Given the description of an element on the screen output the (x, y) to click on. 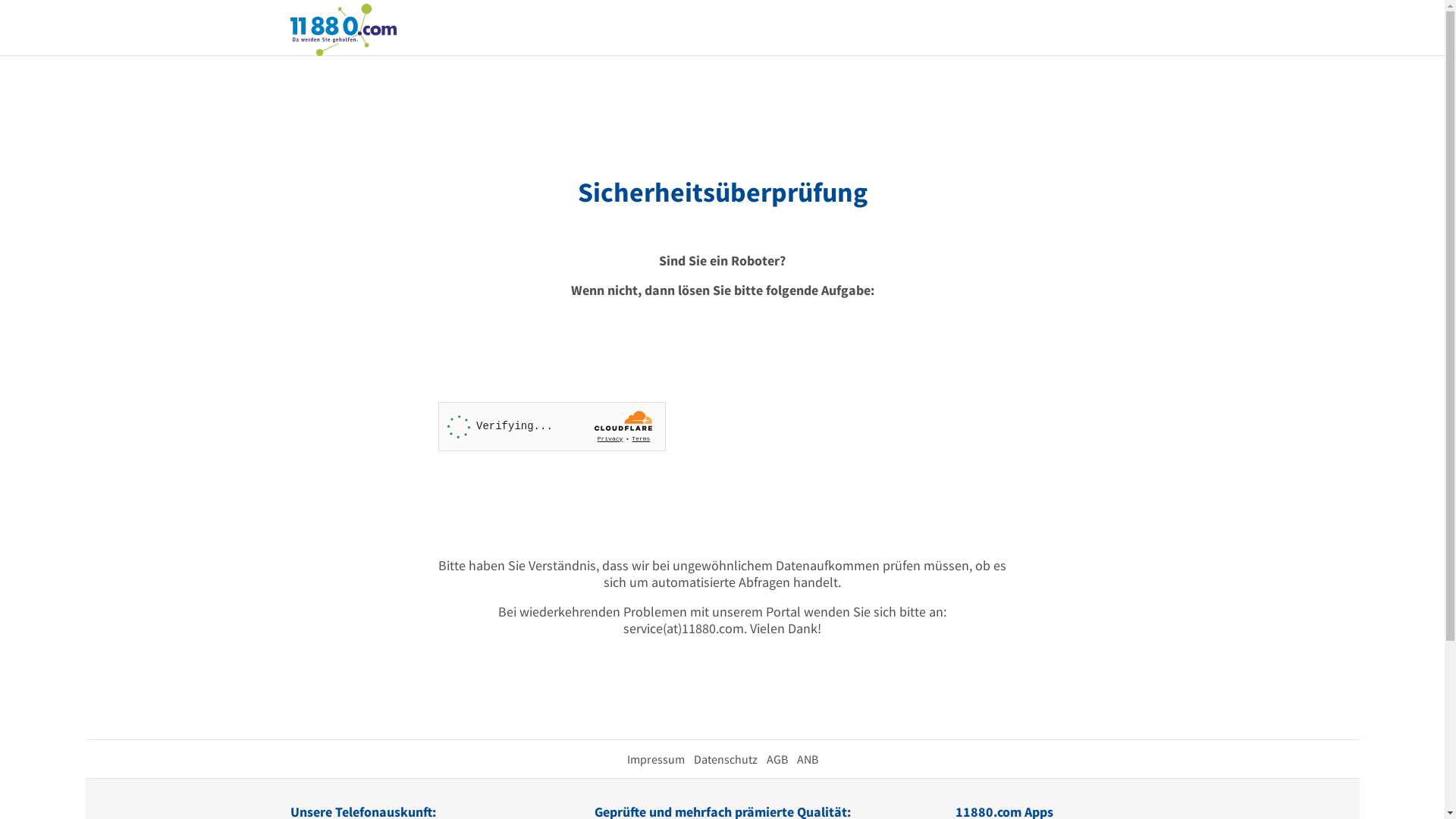
Datenschutz Element type: text (724, 758)
AGB Element type: text (776, 758)
Widget containing a Cloudflare security challenge Element type: hover (551, 426)
11880.com Element type: hover (342, 28)
ANB Element type: text (806, 758)
Impressum Element type: text (655, 758)
